Given the description of an element on the screen output the (x, y) to click on. 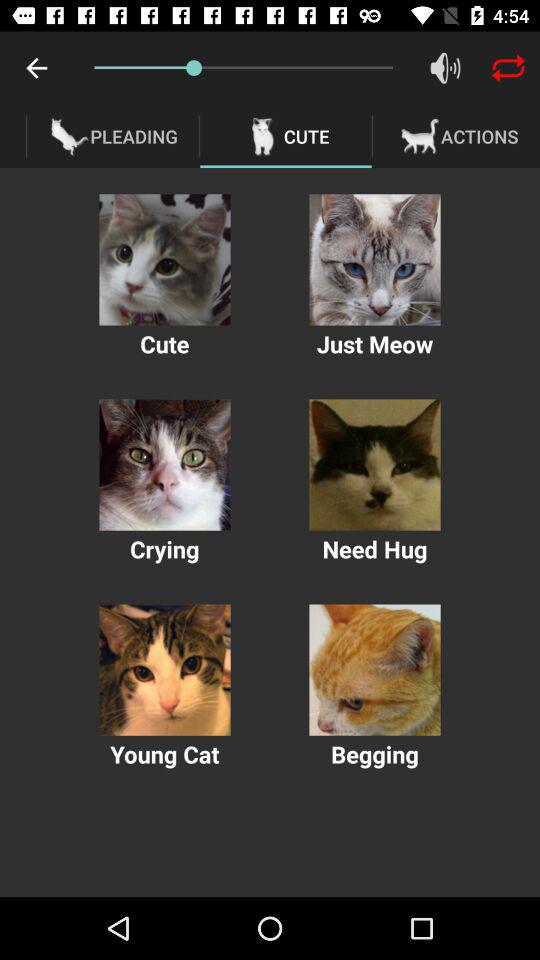
view this cat (164, 669)
